Given the description of an element on the screen output the (x, y) to click on. 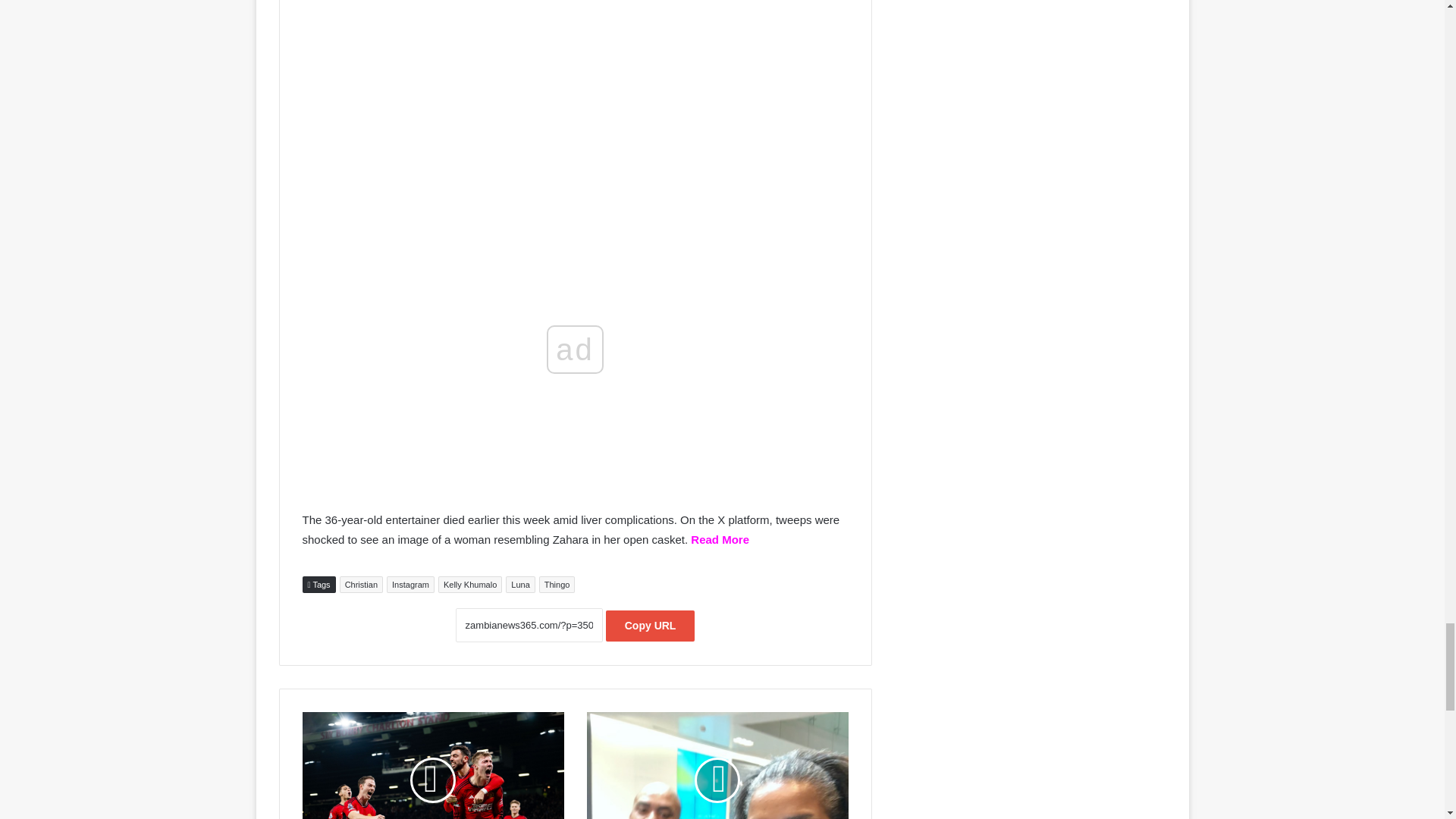
Kelly Khumalo (470, 584)
Thingo (556, 584)
Christian (360, 584)
Copy URL (650, 625)
Manchester United 3-2 Aston Villa (432, 765)
Read More (719, 539)
Luna (519, 584)
Instagram (410, 584)
